Given the description of an element on the screen output the (x, y) to click on. 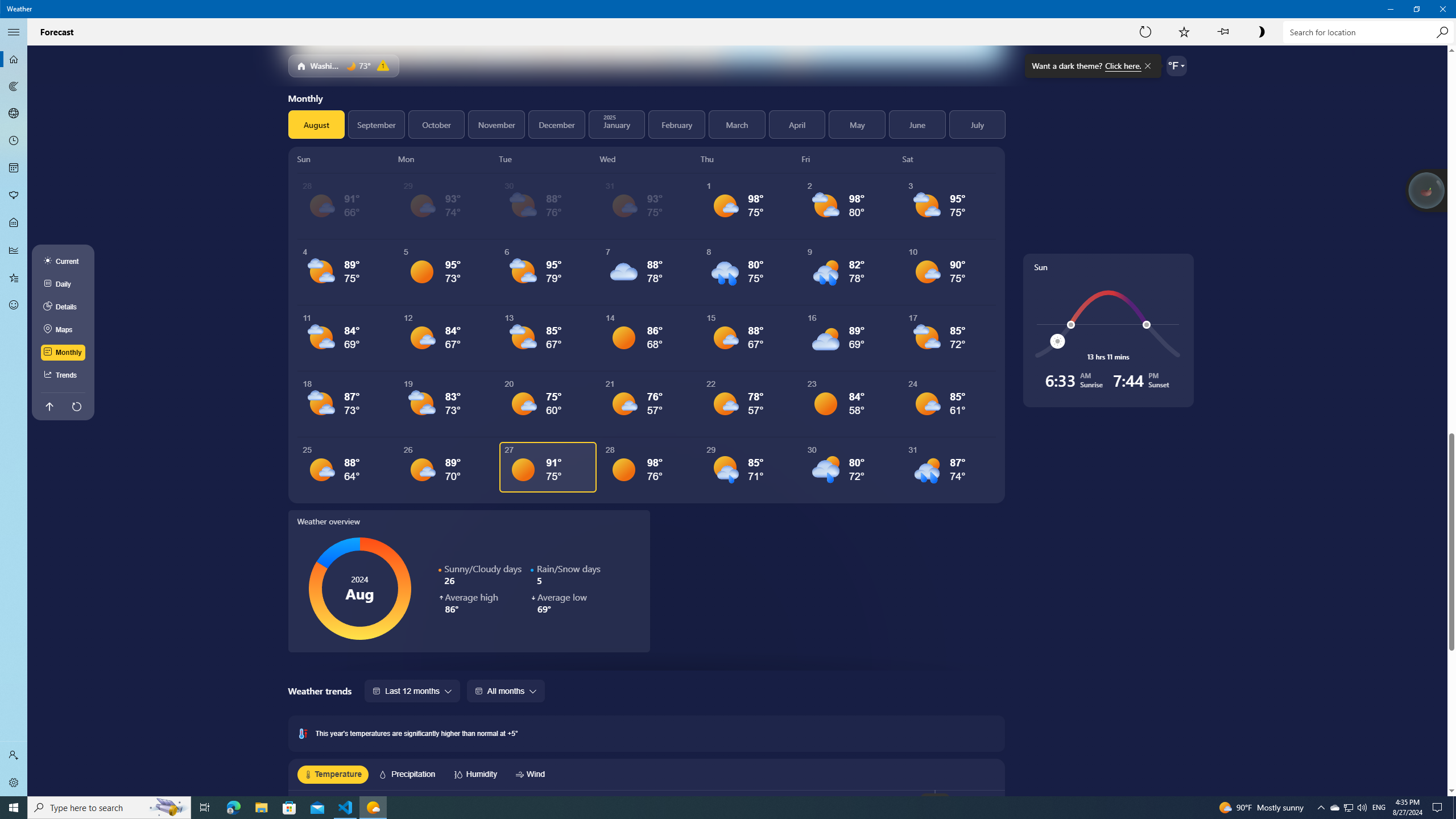
3D Maps - Not Selected (13, 113)
Sign in (13, 755)
Weather - 1 running window (373, 807)
Search (1347, 807)
Type here to search (1442, 31)
Pollen - Not Selected (108, 807)
Search for location (13, 195)
Refresh (1367, 32)
Life - Not Selected (1144, 31)
Pollen - Not Selected (13, 222)
Running applications (13, 195)
Monthly Forecast - Not Selected (706, 807)
Settings (13, 167)
Microsoft Edge (13, 782)
